Given the description of an element on the screen output the (x, y) to click on. 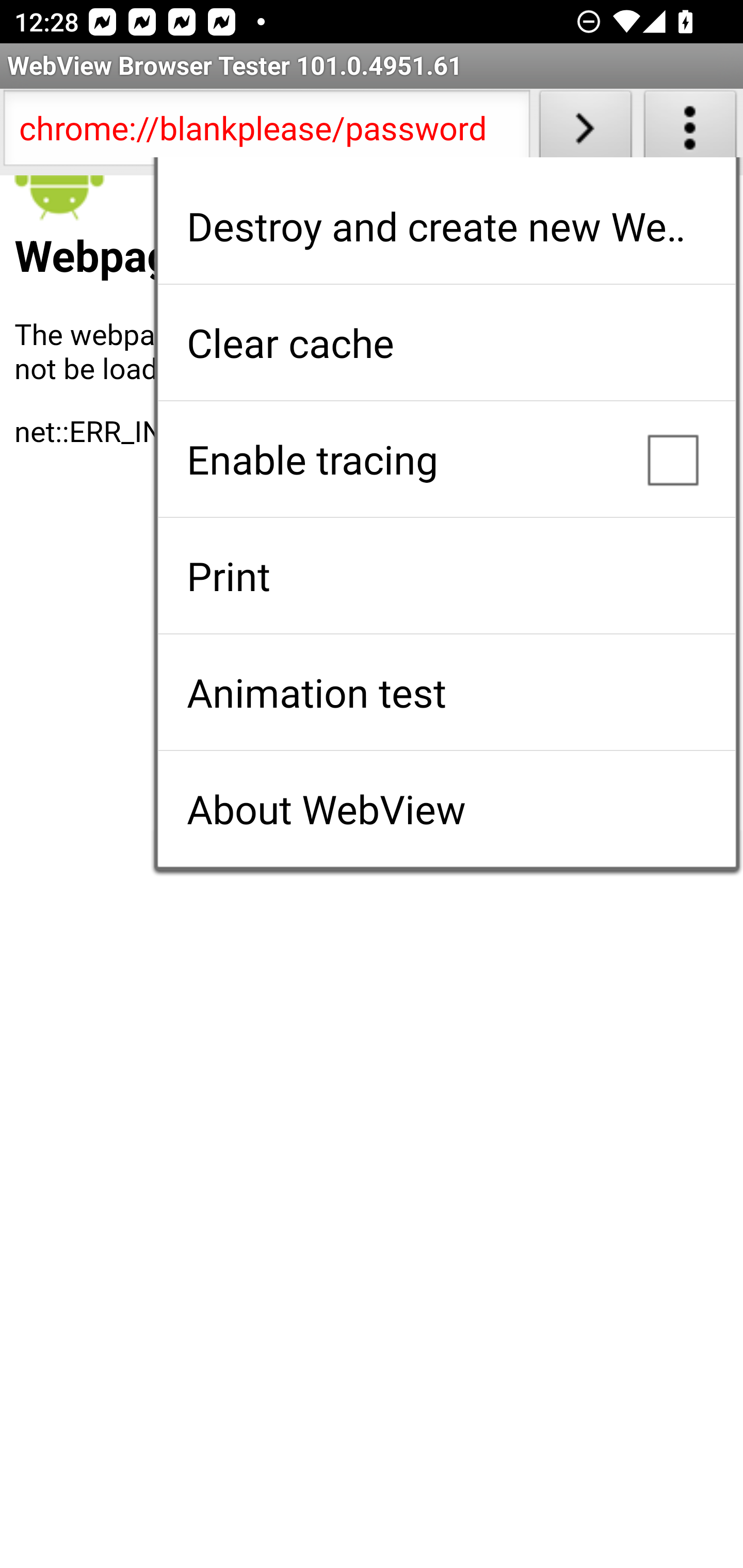
Destroy and create new WebView (446, 225)
Clear cache (446, 342)
Enable tracing (446, 459)
Print (446, 575)
Animation test (446, 692)
About WebView (446, 809)
